Given the description of an element on the screen output the (x, y) to click on. 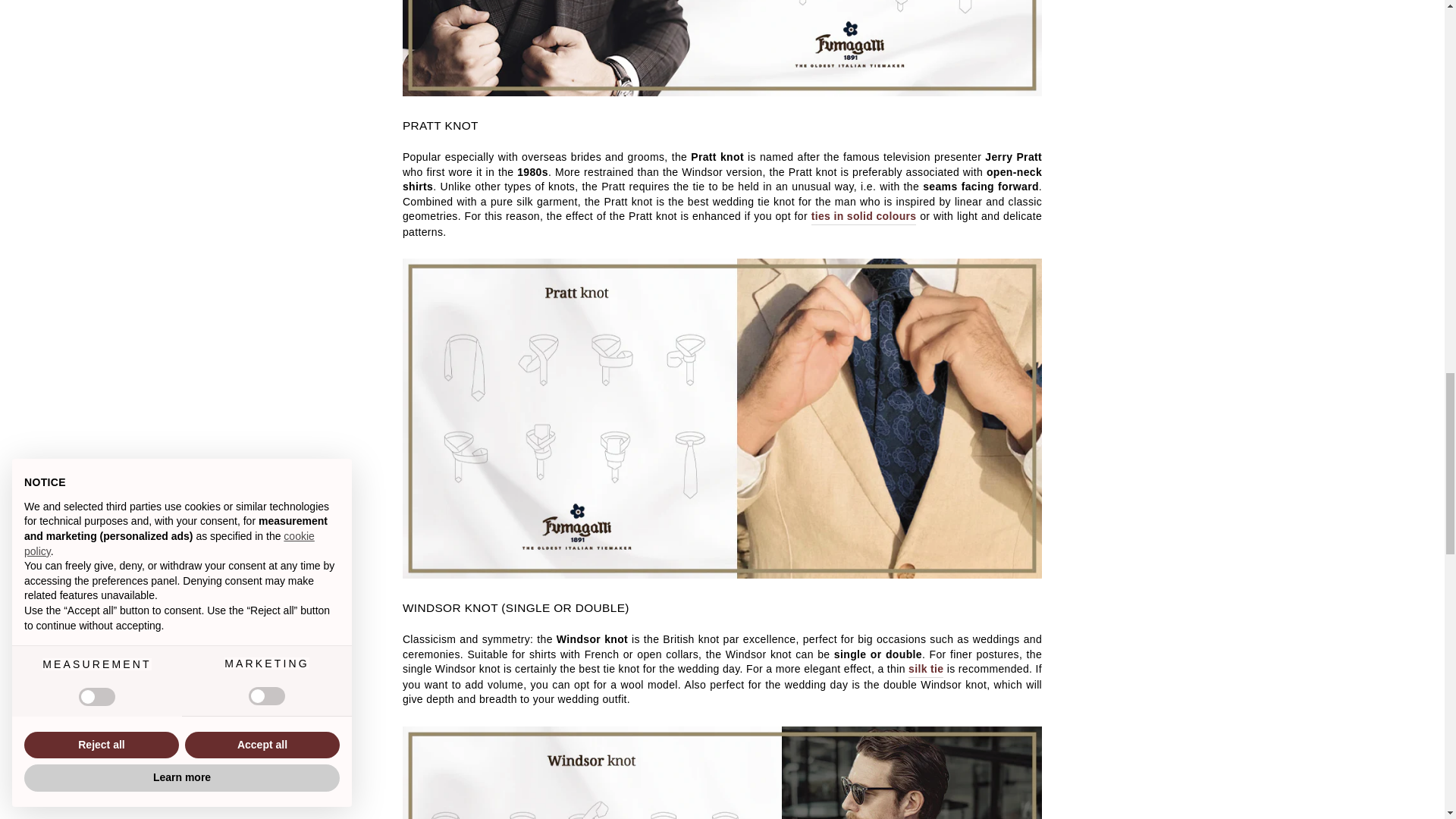
Light blue tie (722, 92)
Silk ties (925, 669)
Evening Ties (722, 574)
Solid and plain ties (863, 217)
